Given the description of an element on the screen output the (x, y) to click on. 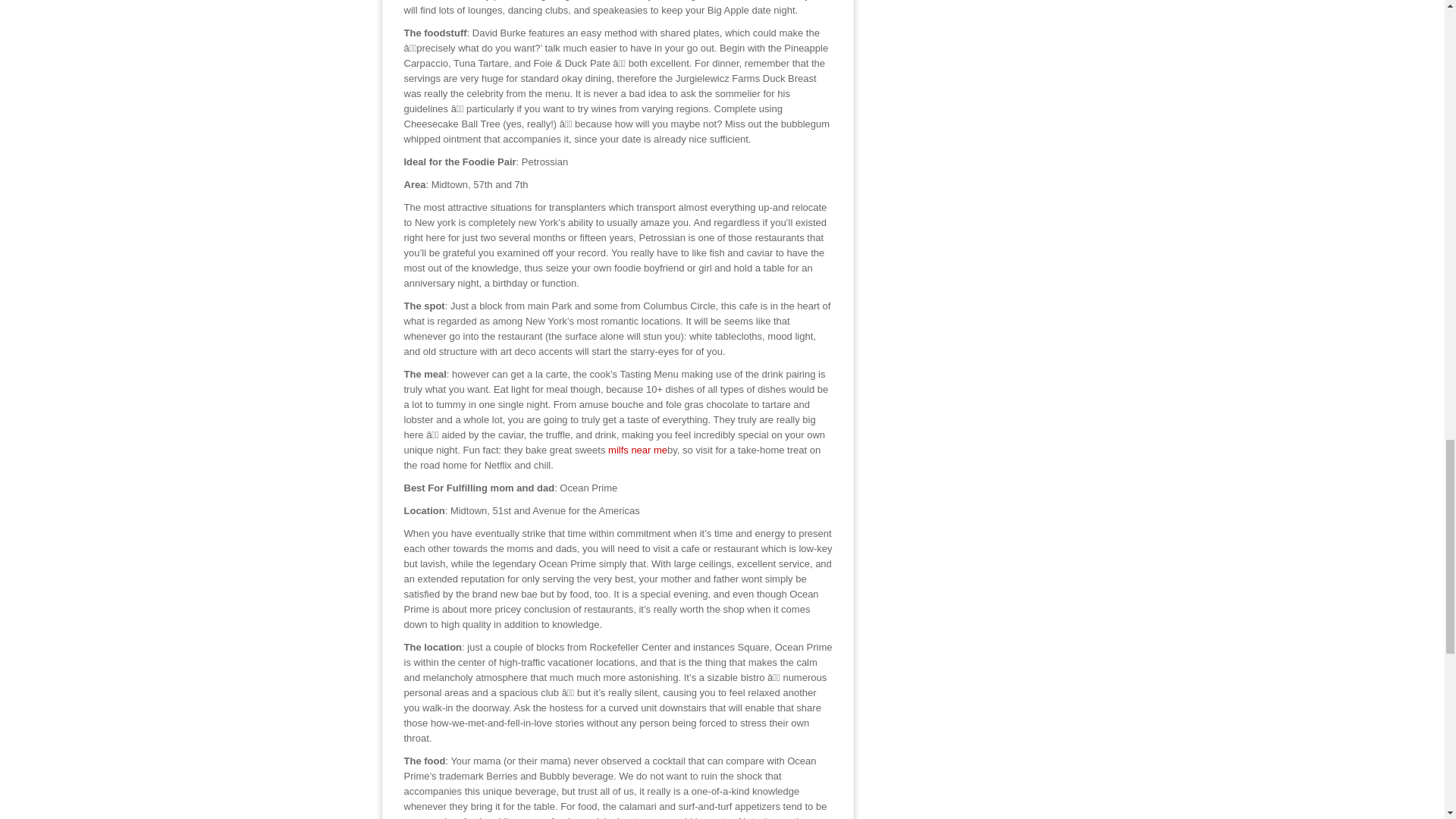
milfs near me (637, 449)
